Given the description of an element on the screen output the (x, y) to click on. 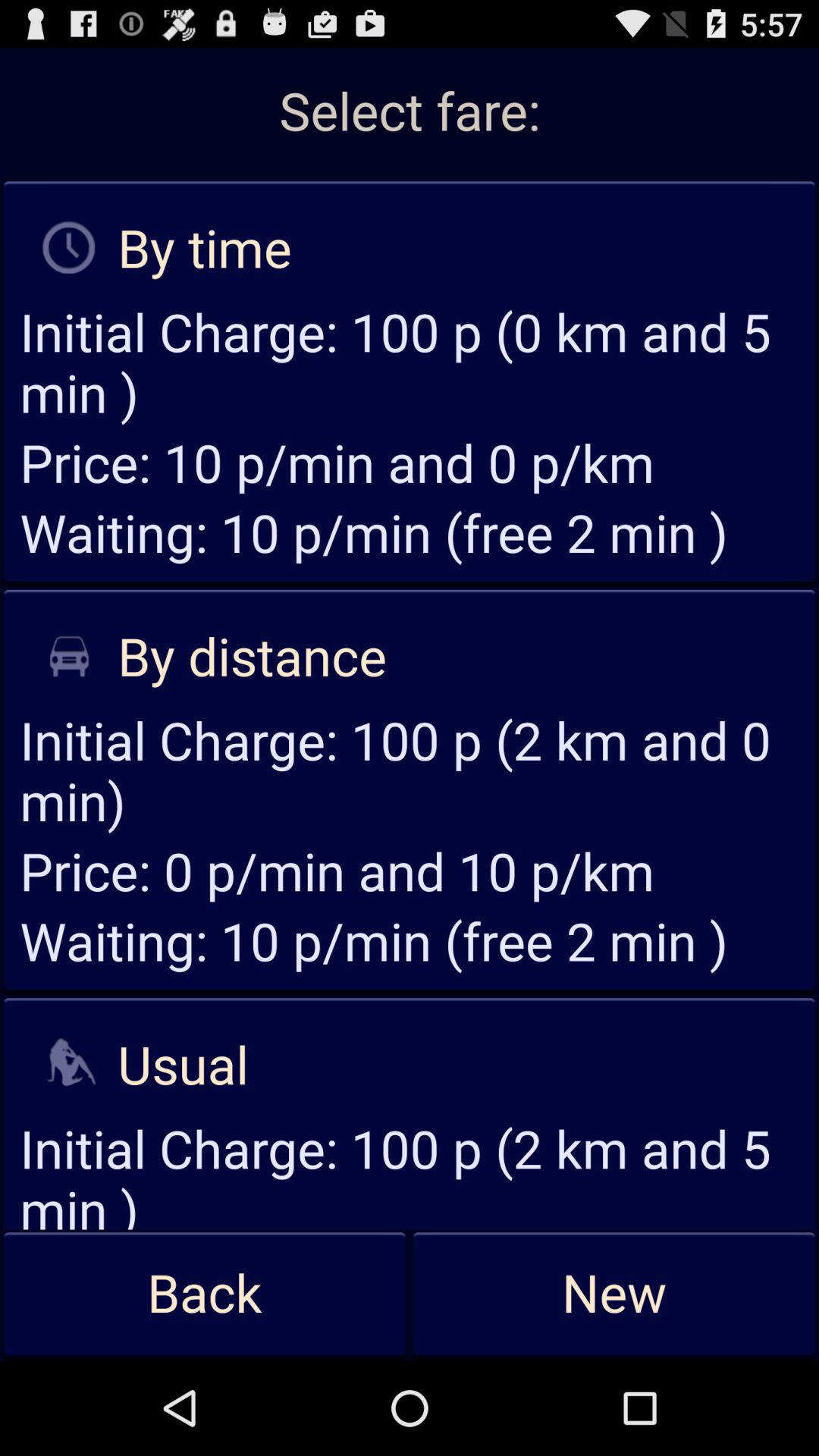
select back item (204, 1294)
